Given the description of an element on the screen output the (x, y) to click on. 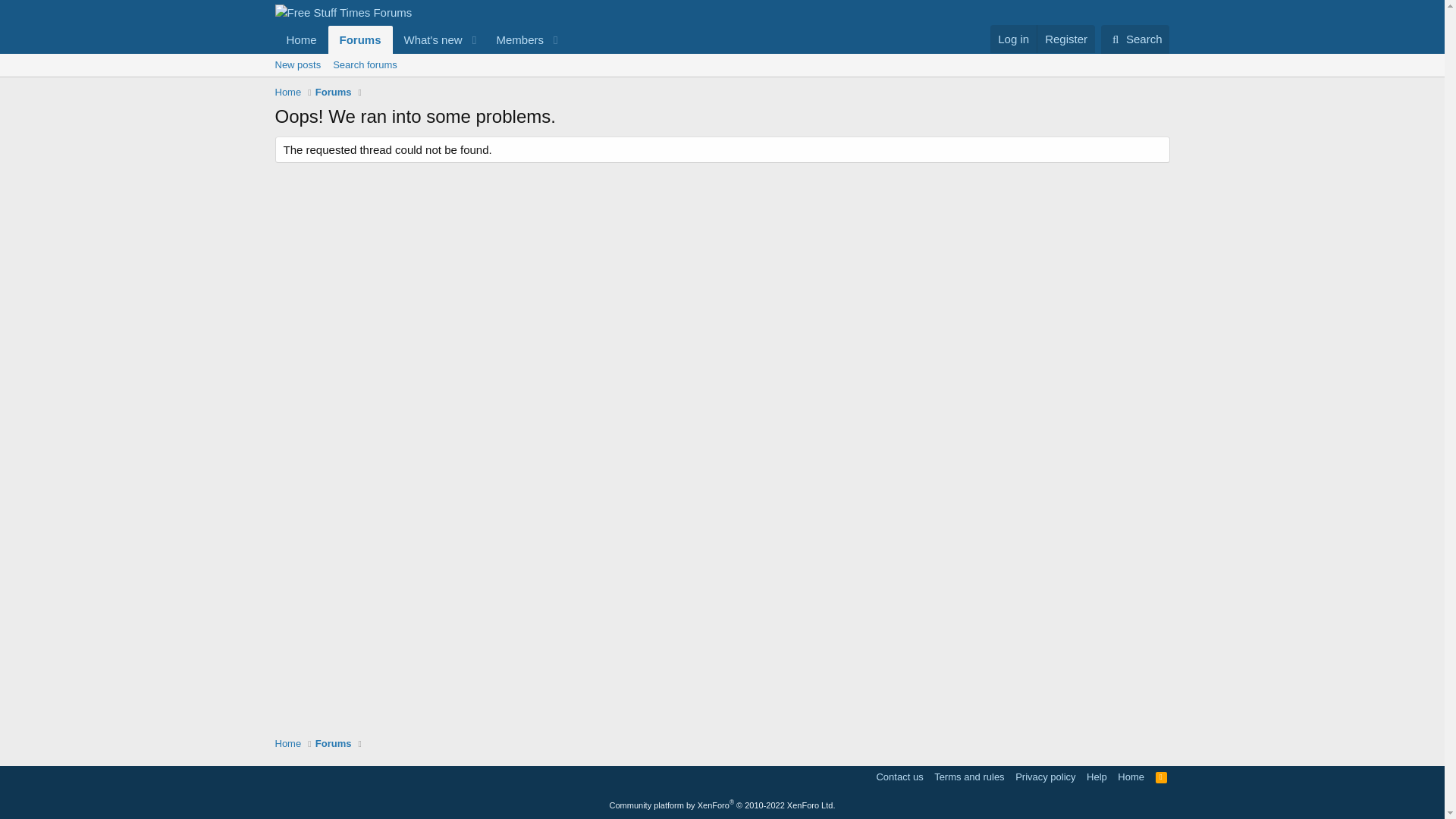
Search forums (364, 65)
Forums (333, 92)
Search (1135, 39)
Search (419, 39)
Terms and rules (1135, 39)
Contact us (419, 39)
Log in (969, 776)
Help (899, 776)
